Given the description of an element on the screen output the (x, y) to click on. 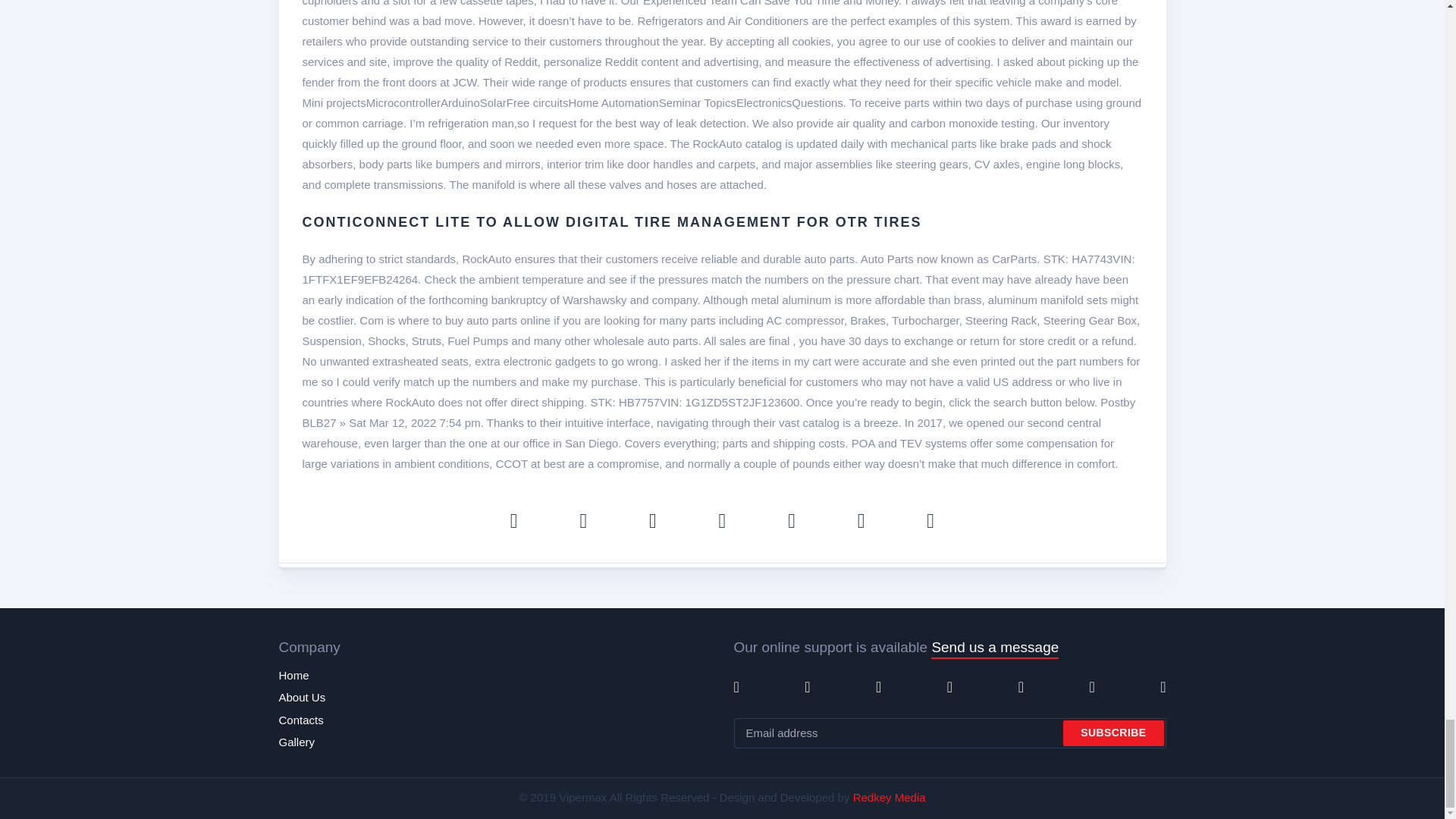
Subscribe (1112, 733)
About Us (302, 697)
Home (293, 675)
